Given the description of an element on the screen output the (x, y) to click on. 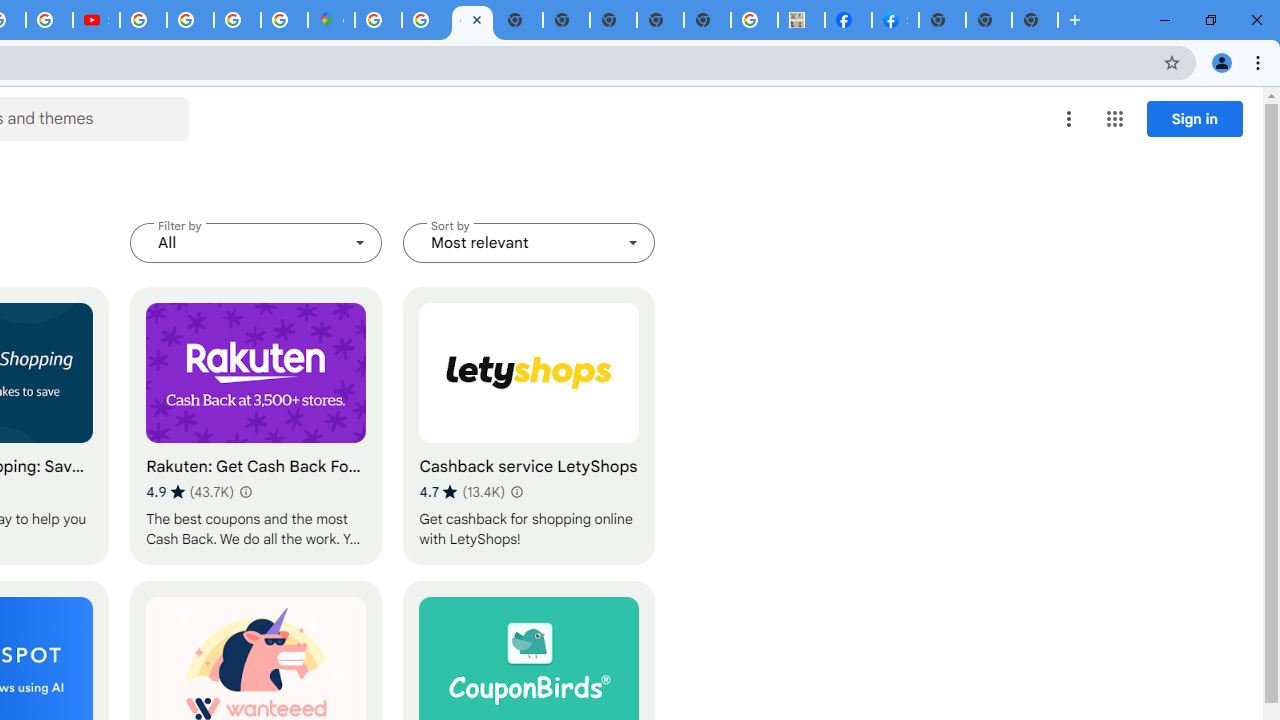
How Chrome protects your passwords - Google Chrome Help (143, 20)
